Given the description of an element on the screen output the (x, y) to click on. 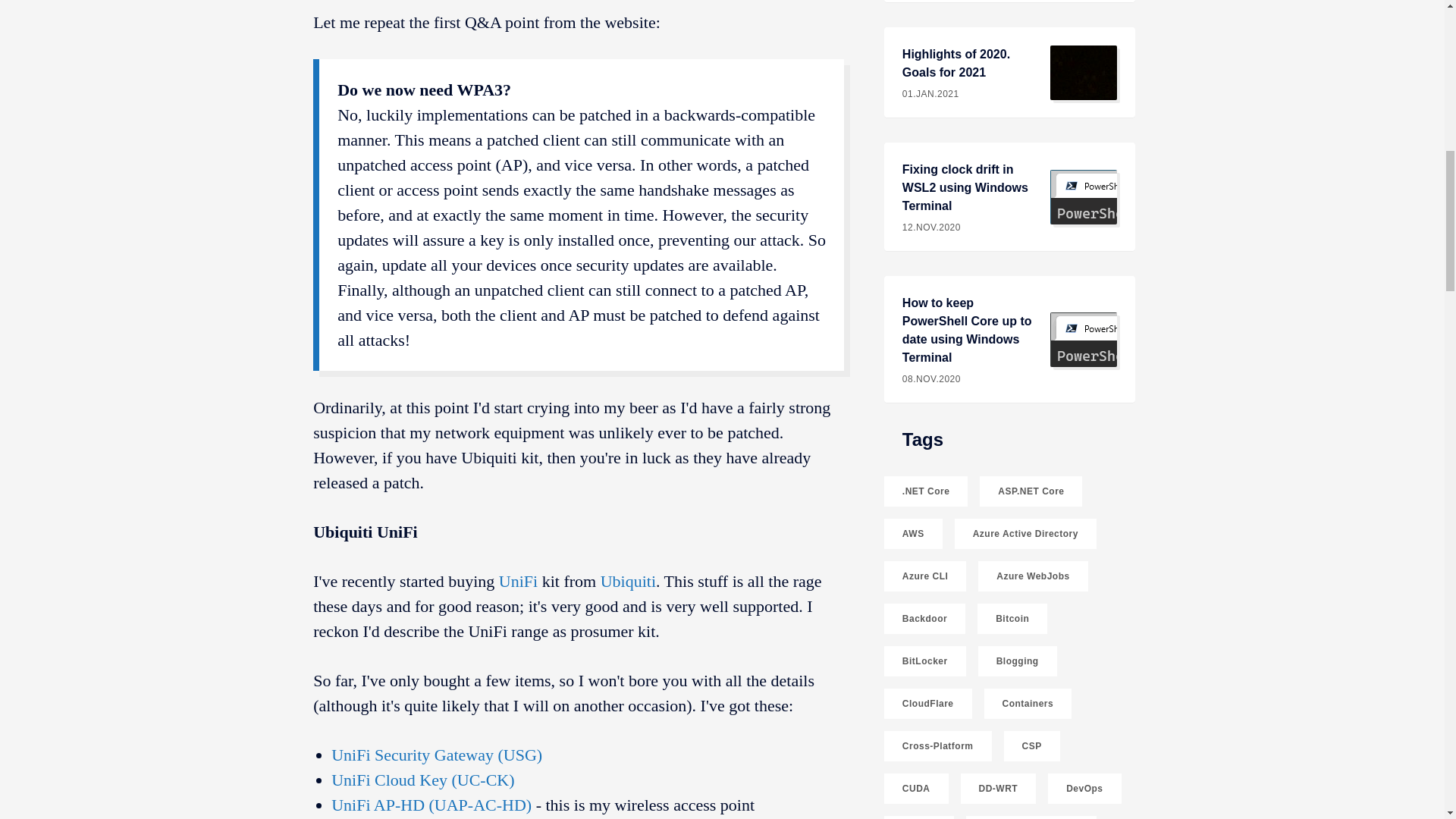
Azure Active Directory (1025, 533)
AWS (912, 533)
UniFi (518, 580)
ASP.NET Core (1030, 490)
.NET Core (925, 490)
12 November 2020 (967, 227)
Ubiquiti (627, 580)
08 November 2020 (1009, 72)
01 January 2021 (967, 378)
